Given the description of an element on the screen output the (x, y) to click on. 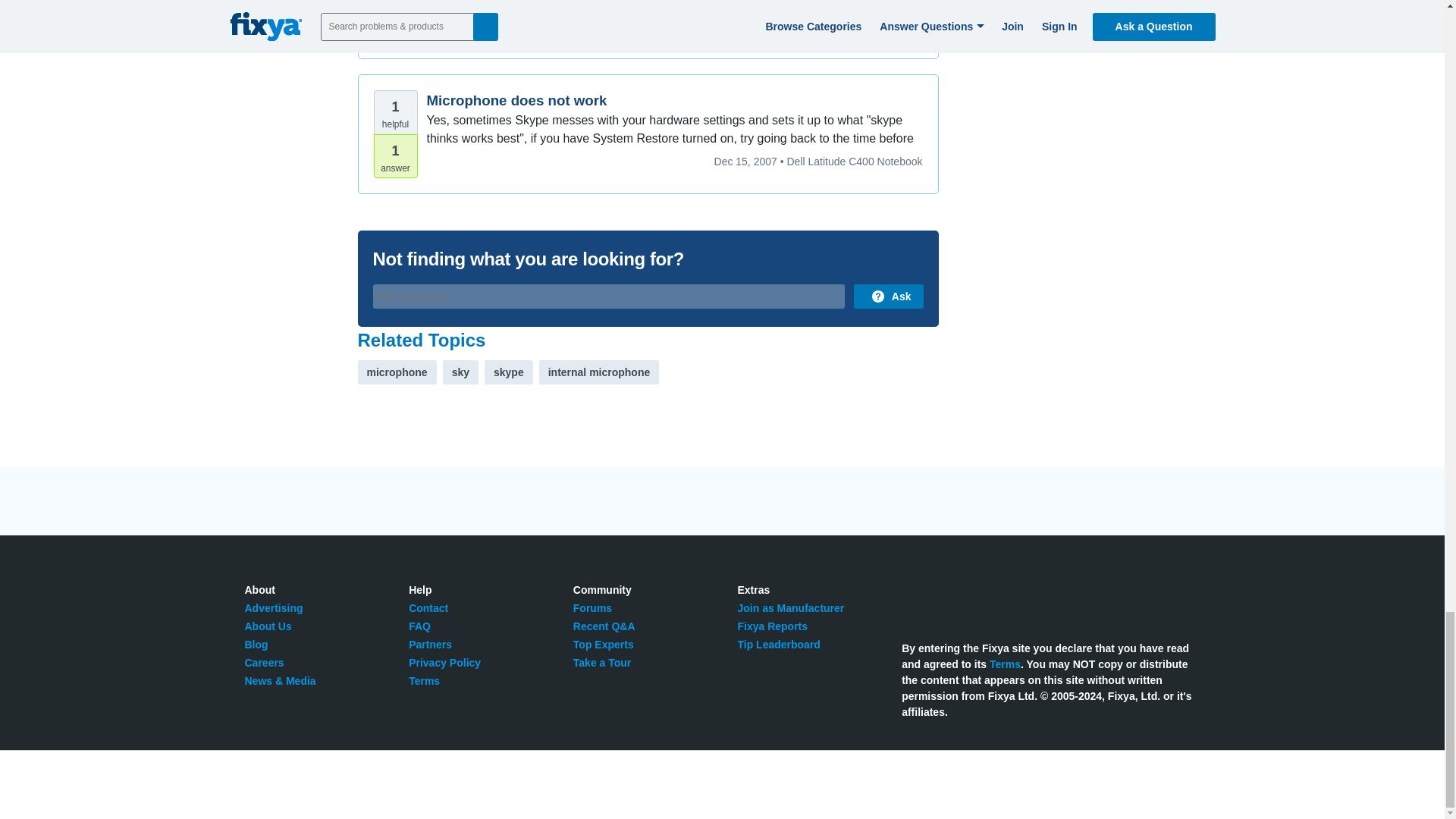
Ask (888, 296)
